Given the description of an element on the screen output the (x, y) to click on. 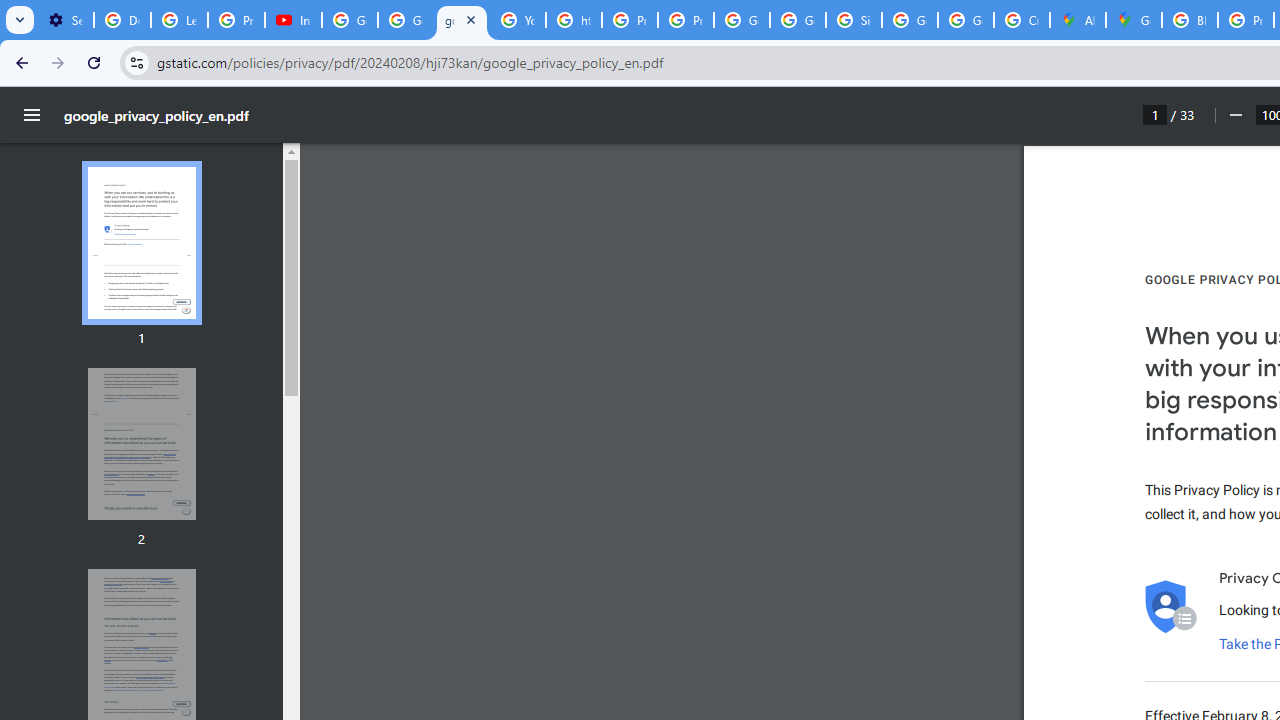
AutomationID: thumbnail (141, 443)
Zoom out (1234, 115)
YouTube (518, 20)
Blogger Policies and Guidelines - Transparency Center (1190, 20)
Introduction | Google Privacy Policy - YouTube (293, 20)
Google Maps (1133, 20)
Thumbnail for page 1 (141, 243)
Page number (1155, 114)
